Given the description of an element on the screen output the (x, y) to click on. 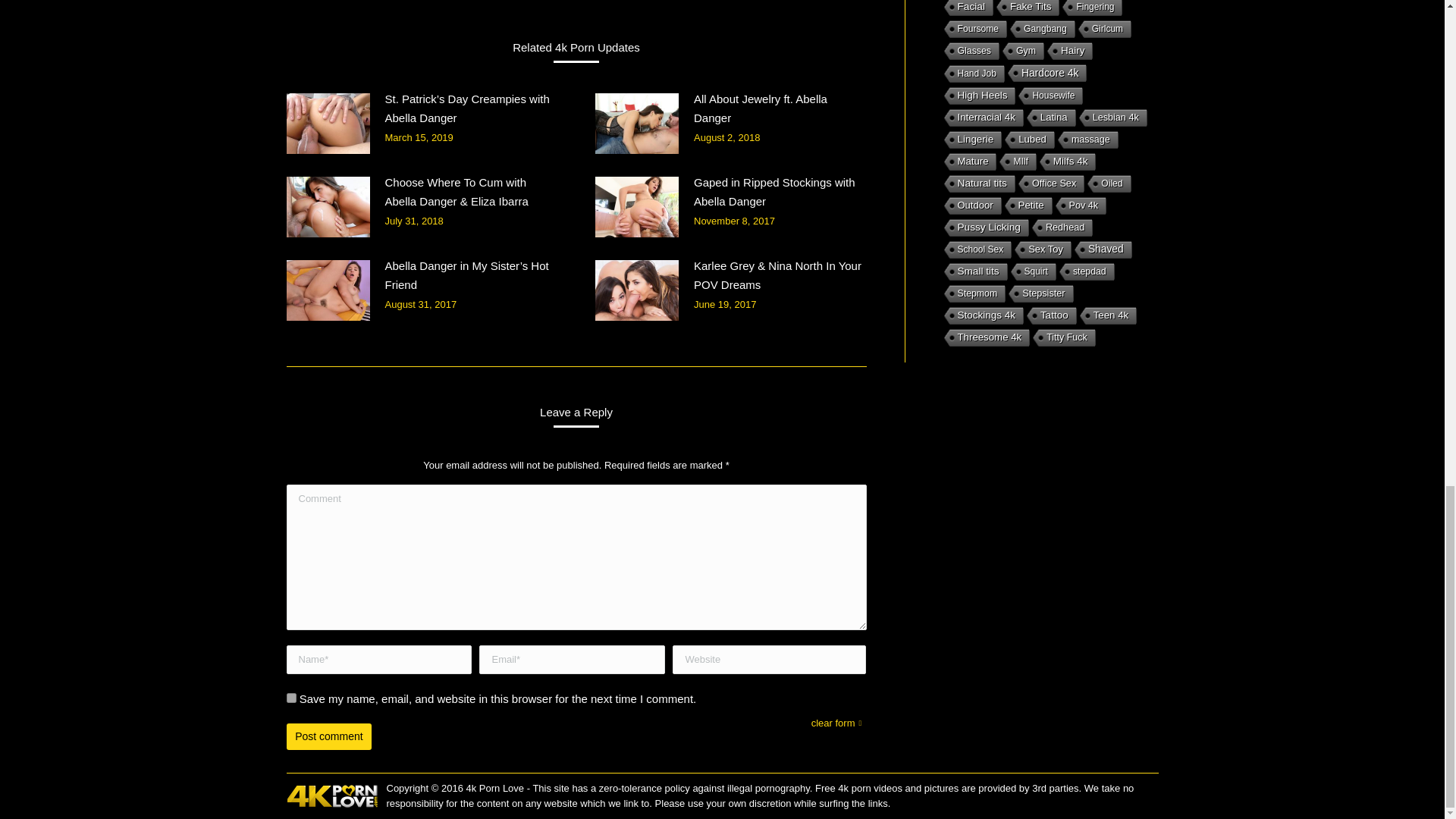
yes (291, 697)
